Given the description of an element on the screen output the (x, y) to click on. 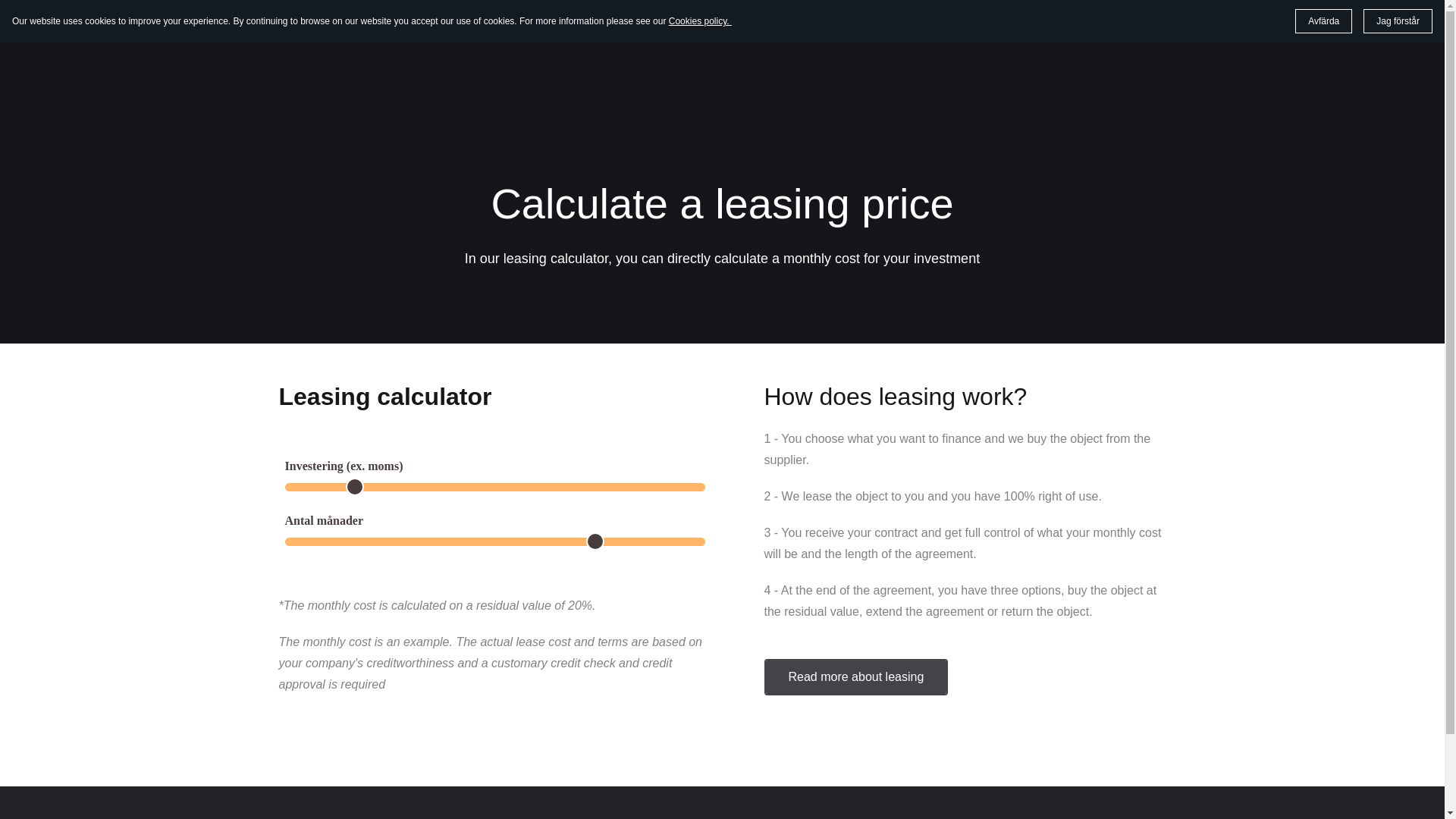
500000 (494, 487)
Cookies policy.  (700, 20)
60 (494, 541)
Read more about leasing (856, 677)
